Given the description of an element on the screen output the (x, y) to click on. 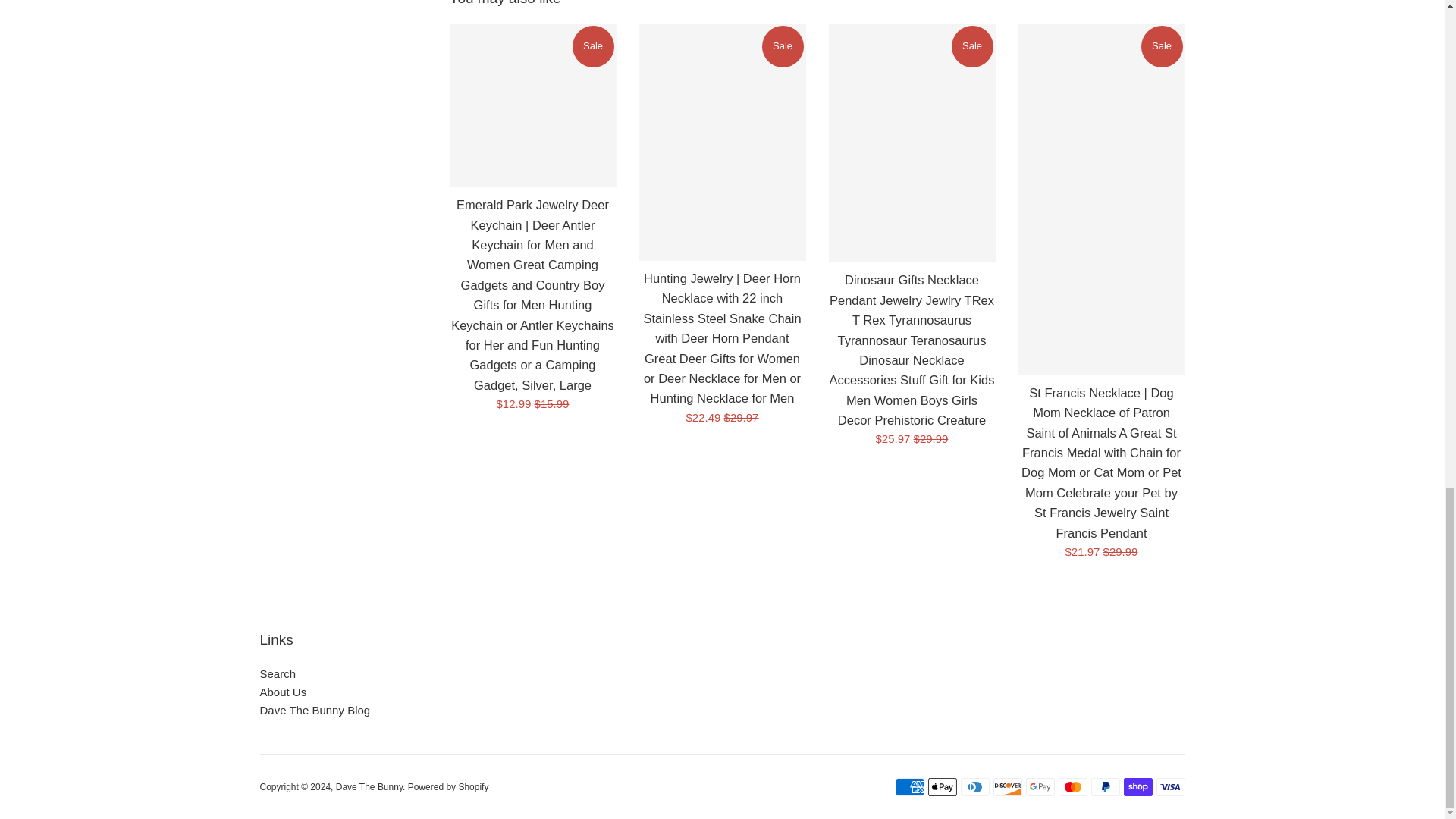
Apple Pay (942, 787)
PayPal (1104, 787)
Visa (1170, 787)
Discover (1007, 787)
Diners Club (973, 787)
Mastercard (1072, 787)
Shop Pay (1138, 787)
American Express (909, 787)
Google Pay (1039, 787)
